Given the description of an element on the screen output the (x, y) to click on. 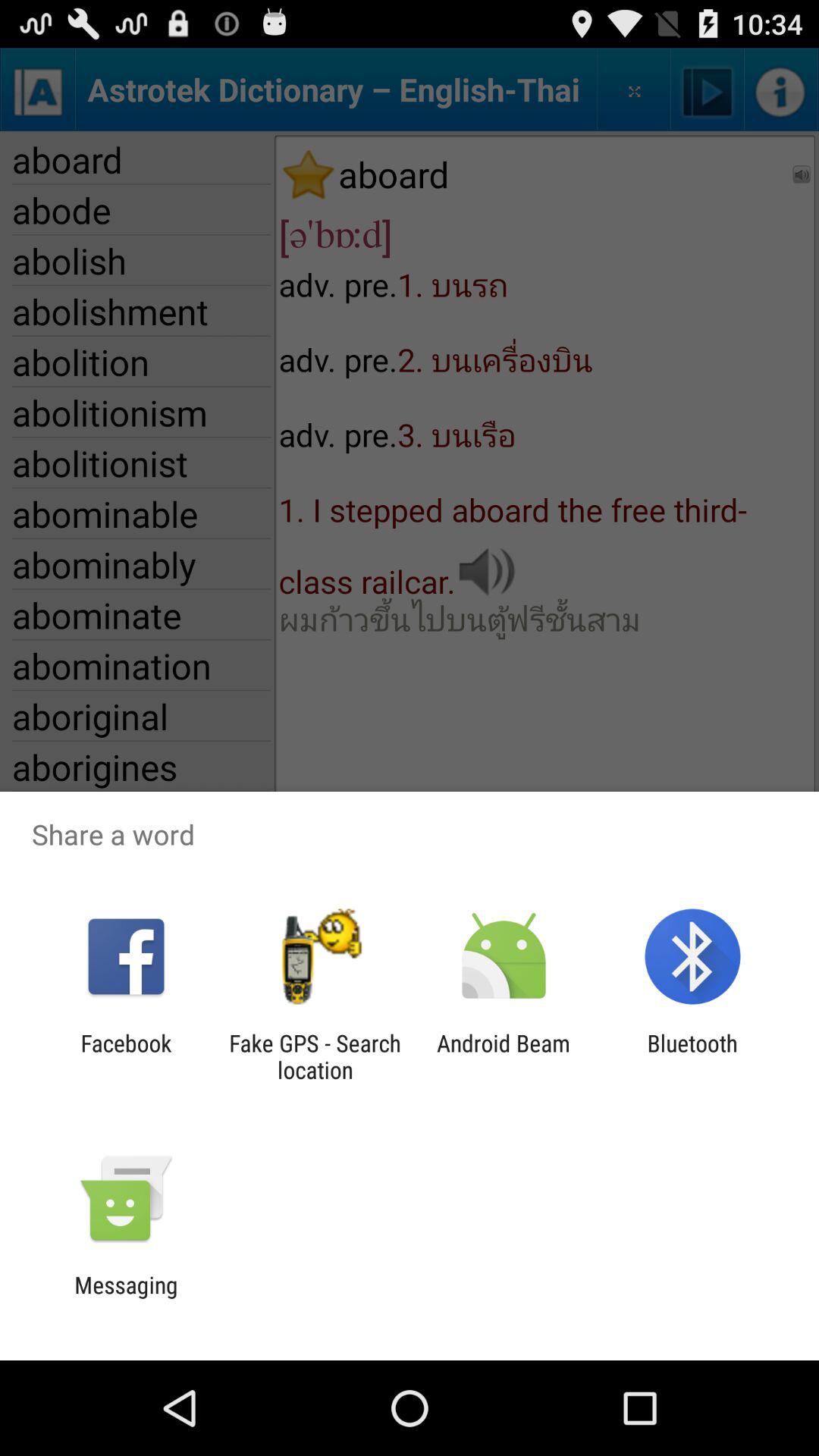
open app next to facebook app (314, 1056)
